Given the description of an element on the screen output the (x, y) to click on. 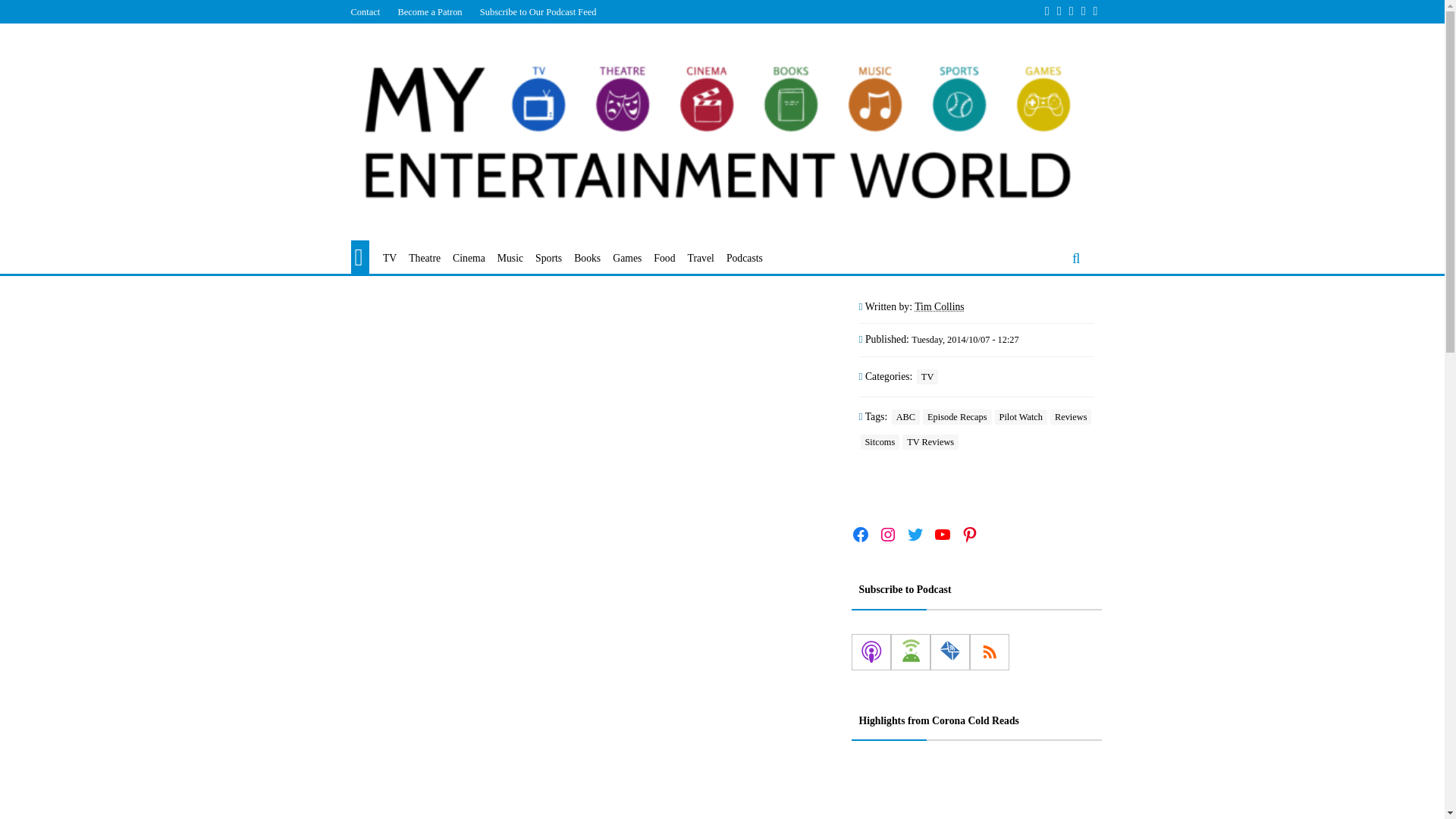
Subscribe by Email (949, 651)
Theatre (425, 258)
Games (627, 258)
Music (509, 258)
ABC (905, 417)
Sitcoms (879, 441)
Travel (700, 258)
Food (664, 258)
Subscribe via RSS (989, 651)
Subscribe to Our Podcast Feed (537, 10)
